Given the description of an element on the screen output the (x, y) to click on. 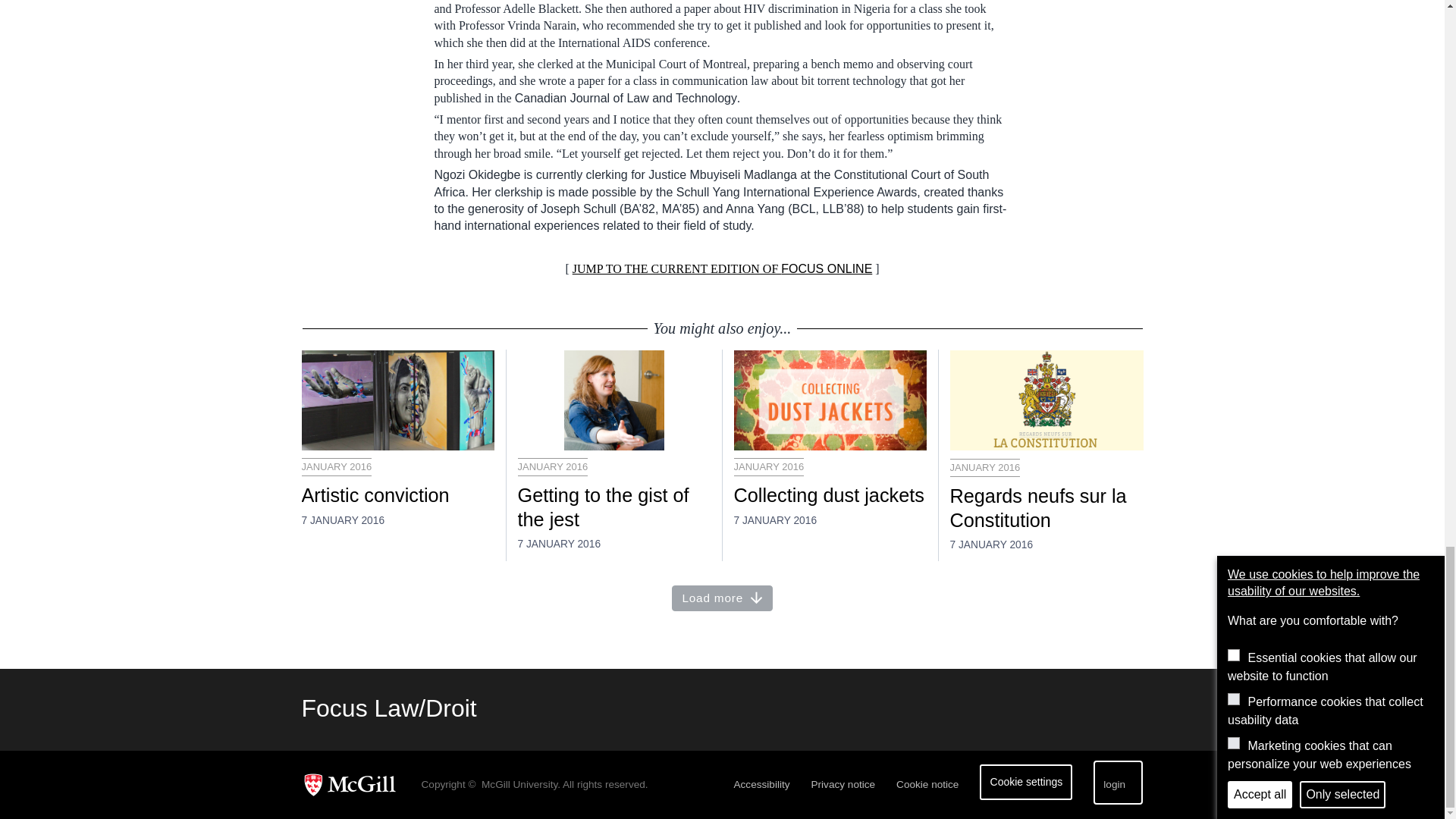
Artistic conviction (398, 495)
JANUARY 2016 (552, 466)
Getting to the gist of the jest (613, 508)
Load more (722, 598)
Privacy notice (842, 784)
McGill University (355, 784)
Regards neufs sur la Constitution (1045, 508)
Accessibility (761, 784)
JUMP TO THE CURRENT EDITION OF FOCUS ONLINE (722, 268)
Collecting dust jackets (829, 495)
JANUARY 2016 (769, 466)
login (1117, 781)
JANUARY 2016 (336, 466)
Home (389, 707)
Cookie notice (927, 784)
